Given the description of an element on the screen output the (x, y) to click on. 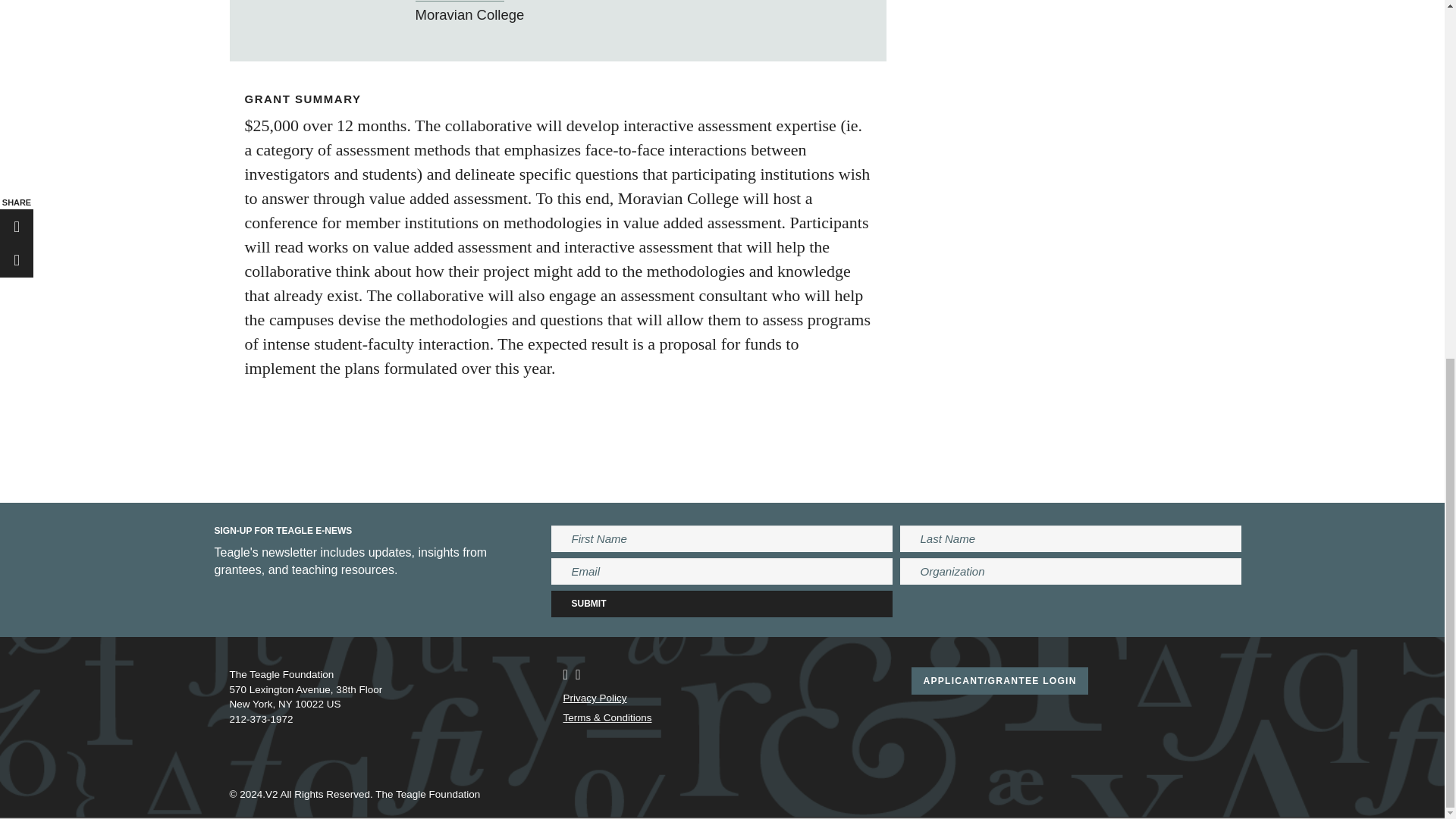
Curtis A. Keim (458, 0)
Submit (721, 603)
Privacy Policy (594, 697)
Submit (721, 603)
